Given the description of an element on the screen output the (x, y) to click on. 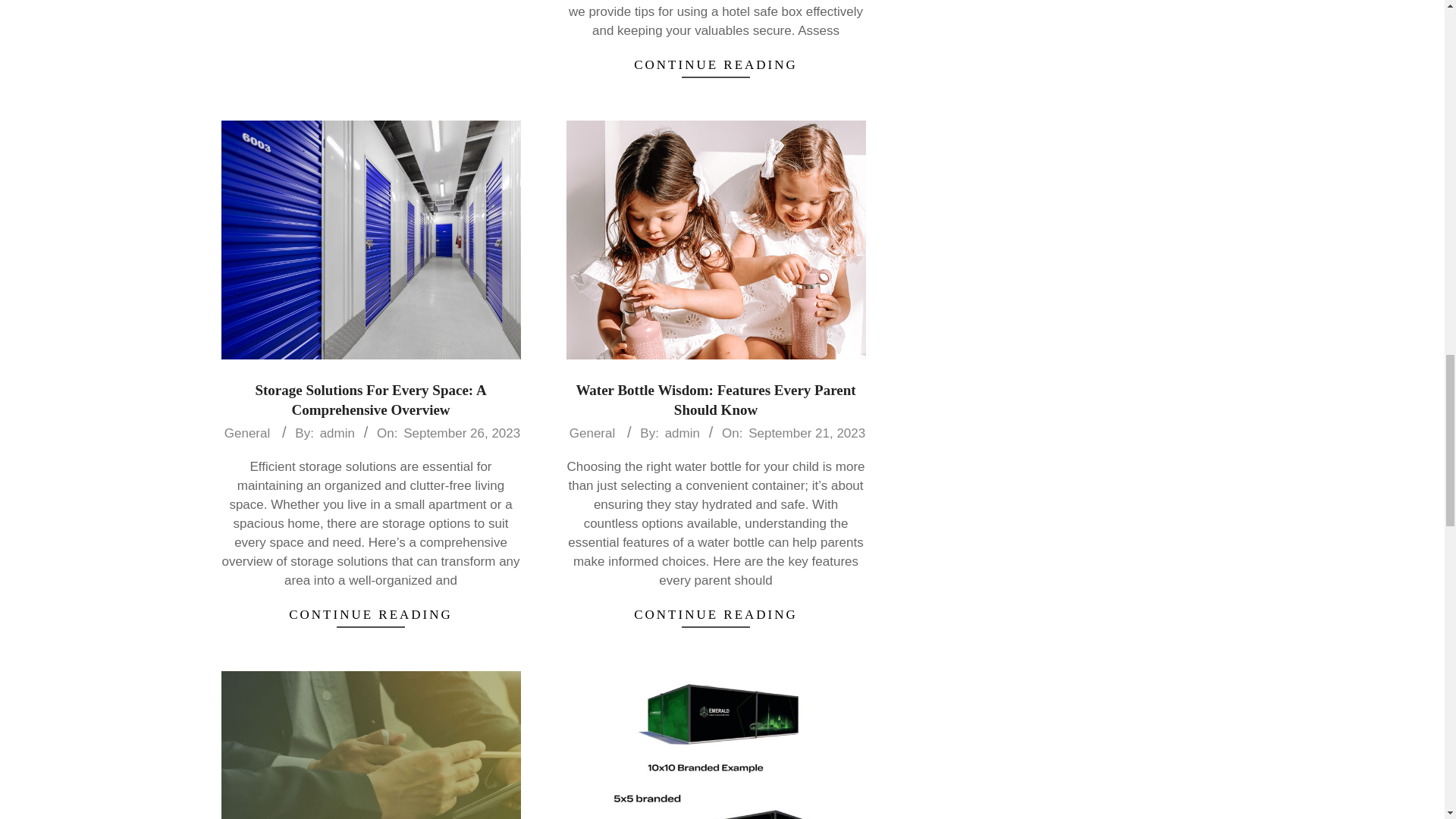
General (591, 434)
Water Bottle Wisdom: Features Every Parent Should Know (715, 399)
Tuesday, September 26, 2023, 8:01 am (461, 432)
Posts by admin (337, 432)
Storage Solutions For Every Space: A Comprehensive Overview (370, 399)
General (247, 434)
Posts by admin (682, 432)
Thursday, September 21, 2023, 6:23 am (806, 432)
CONTINUE READING (715, 64)
CONTINUE READING (371, 614)
admin (337, 432)
